Given the description of an element on the screen output the (x, y) to click on. 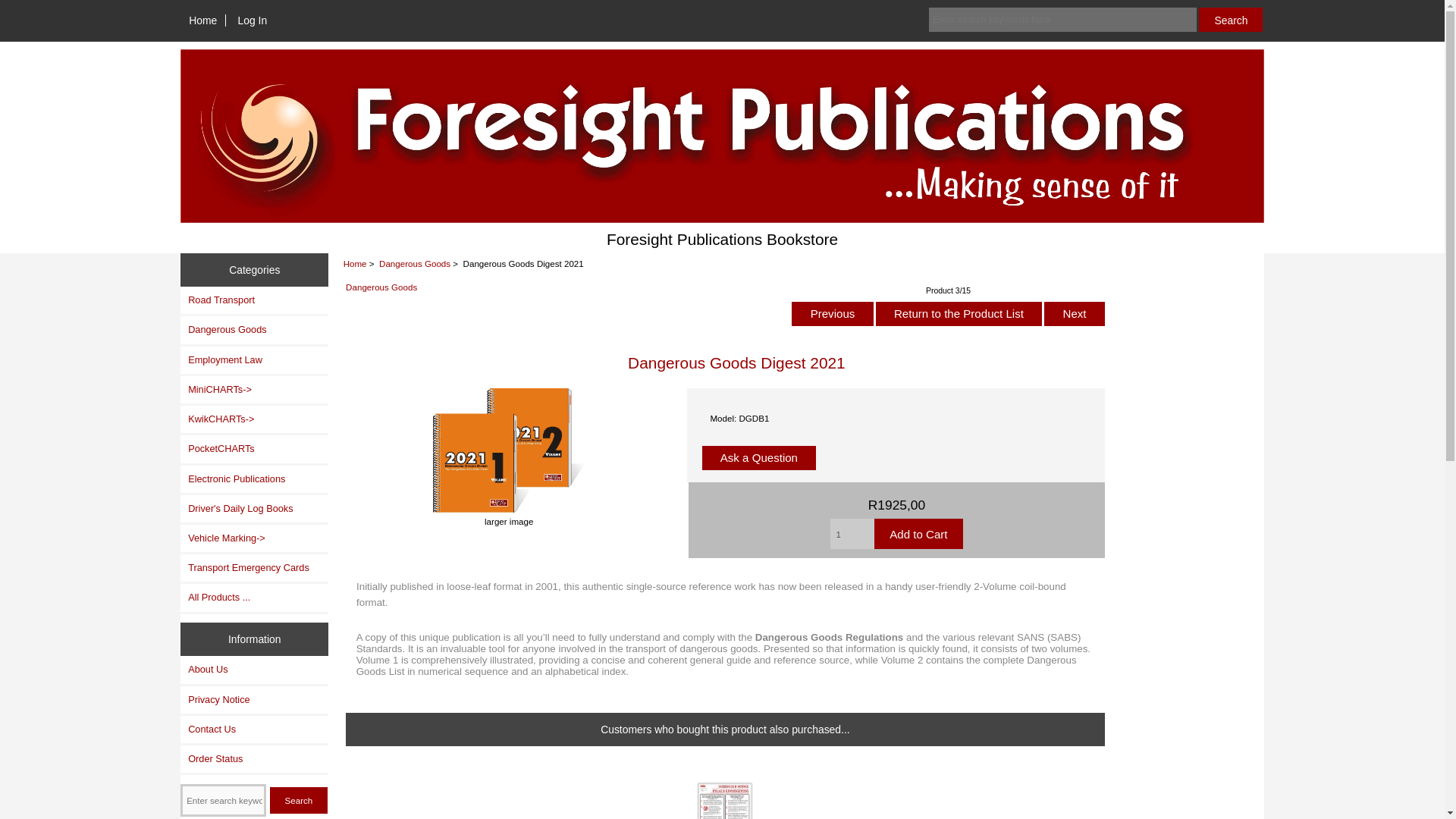
Volume 1 (377, 659)
Search (299, 800)
Search (299, 800)
Employment Law (254, 359)
Dangerous Goods (413, 263)
larger image (508, 515)
Privacy Notice (254, 699)
PocketCHARTs (254, 448)
Home (202, 20)
Add to Cart (918, 533)
MiniCHART - OHS Act Schedule D Notice (724, 800)
Dangerous Goods (254, 329)
Search (1230, 19)
Transport Emergency Cards (254, 567)
Volume 2 (901, 659)
